Given the description of an element on the screen output the (x, y) to click on. 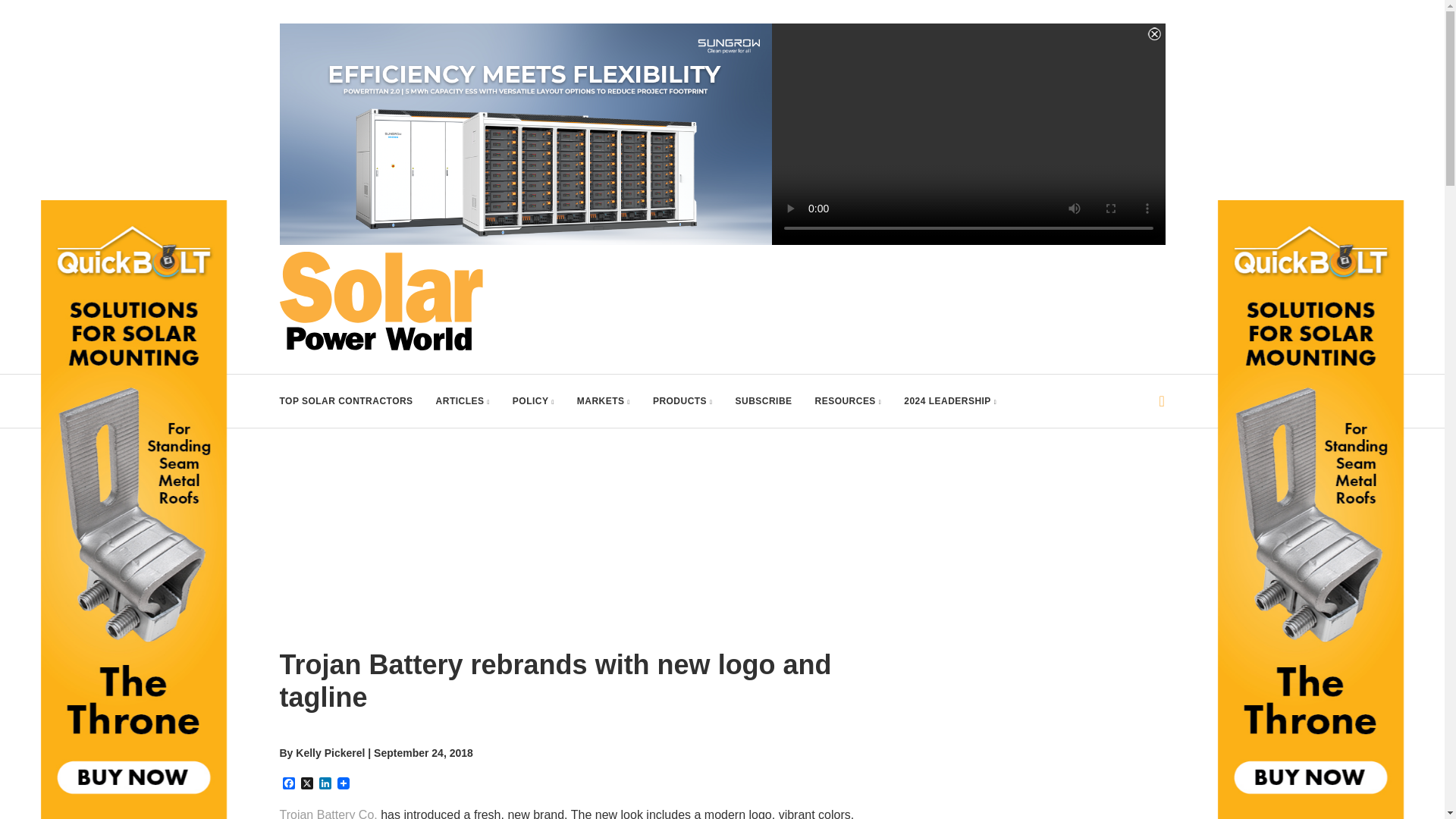
PRODUCTS (682, 400)
Facebook (288, 784)
3rd party ad content (888, 284)
X (306, 784)
MARKETS (603, 400)
3rd party ad content (1024, 733)
Solar Power World (380, 300)
ARTICLES (462, 400)
TOP SOLAR CONTRACTORS (345, 400)
LinkedIn (324, 784)
